Given the description of an element on the screen output the (x, y) to click on. 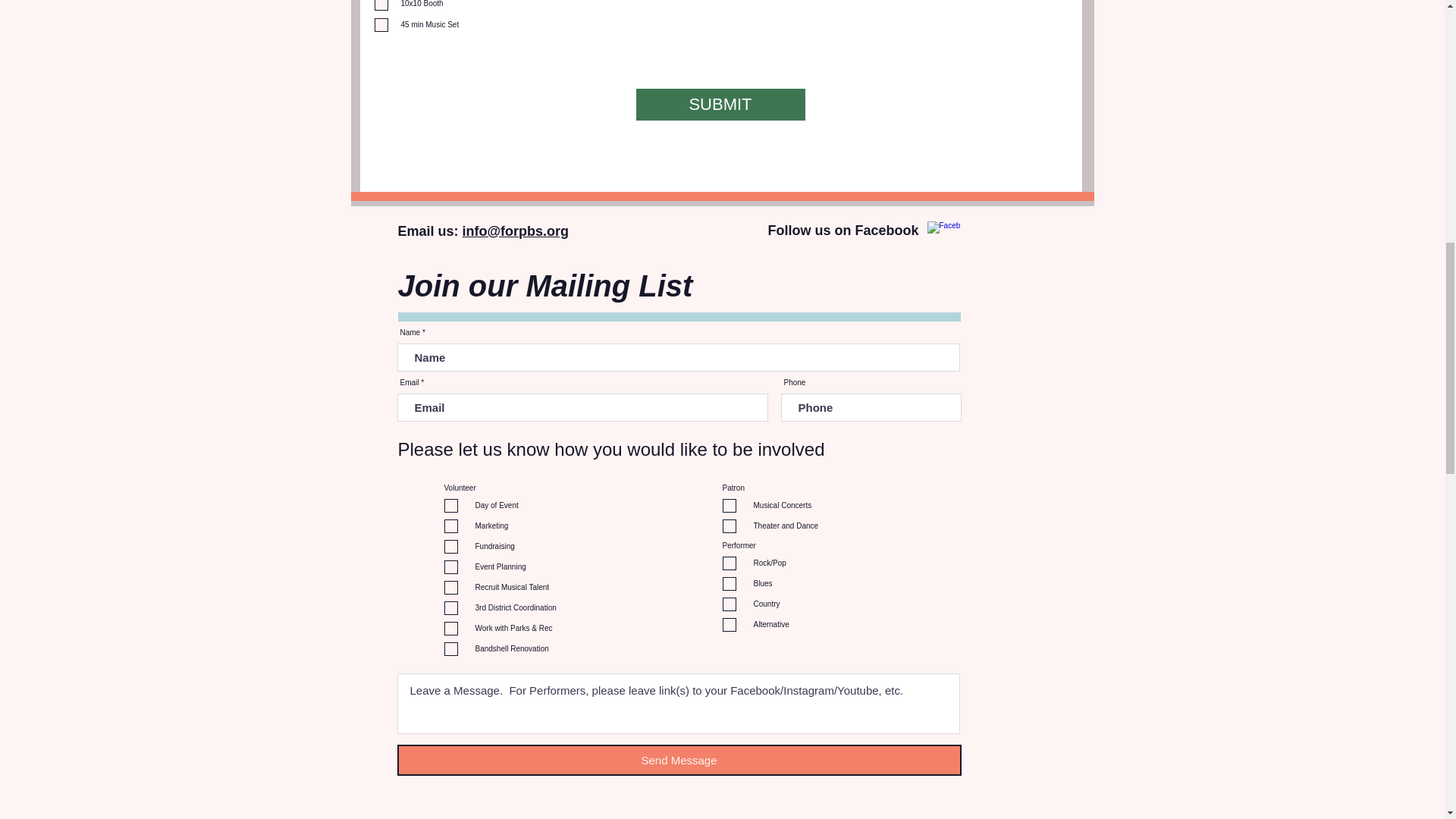
SUBMIT (719, 104)
Send Message (678, 759)
